Given the description of an element on the screen output the (x, y) to click on. 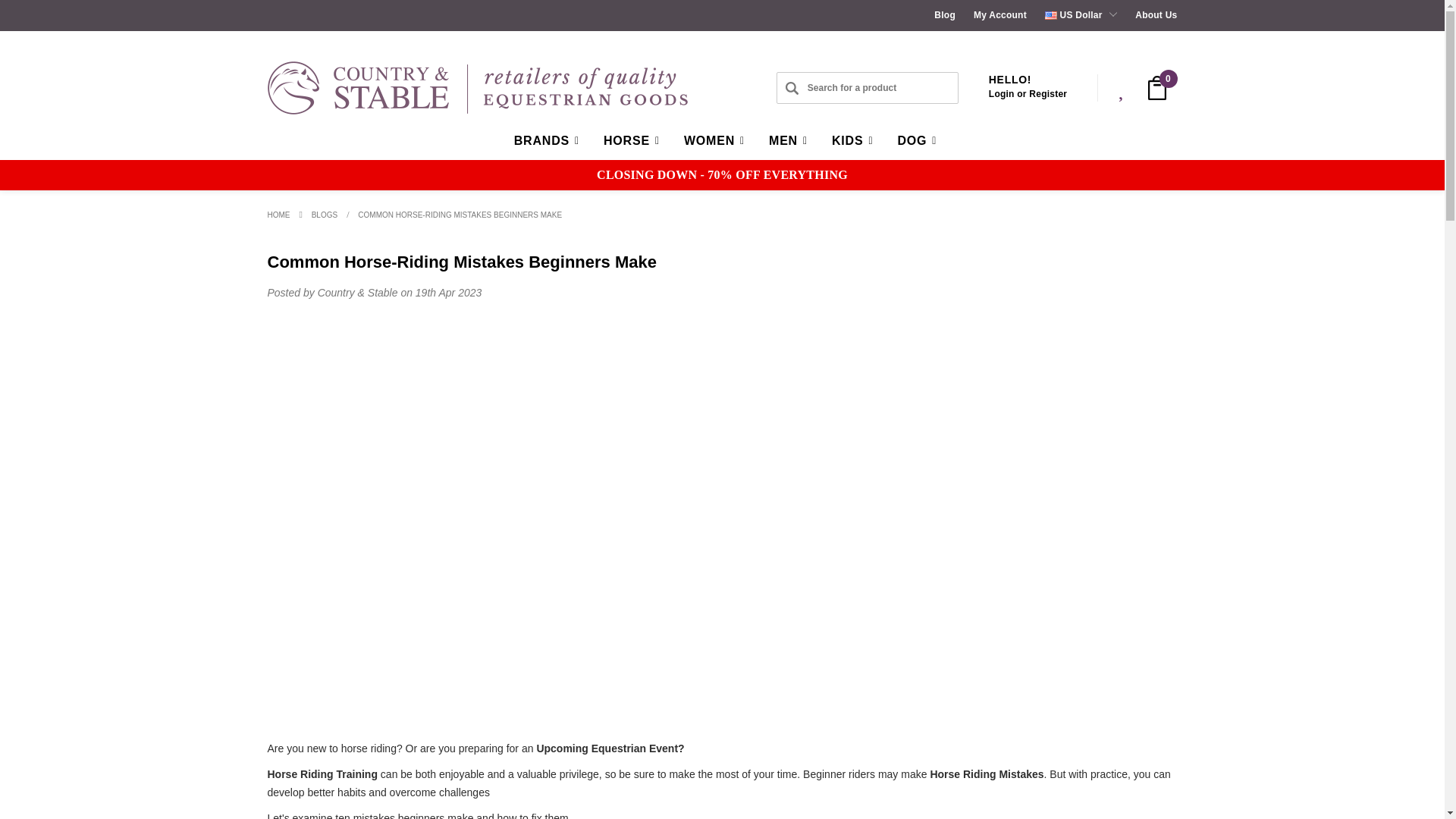
Register (1048, 93)
HORSE (628, 140)
US Dollar (1080, 14)
Login (1002, 93)
My Account (1000, 14)
Wish lists (1122, 88)
Blog (944, 14)
About Us (1155, 14)
0 (1157, 87)
BRANDS (543, 140)
